Given the description of an element on the screen output the (x, y) to click on. 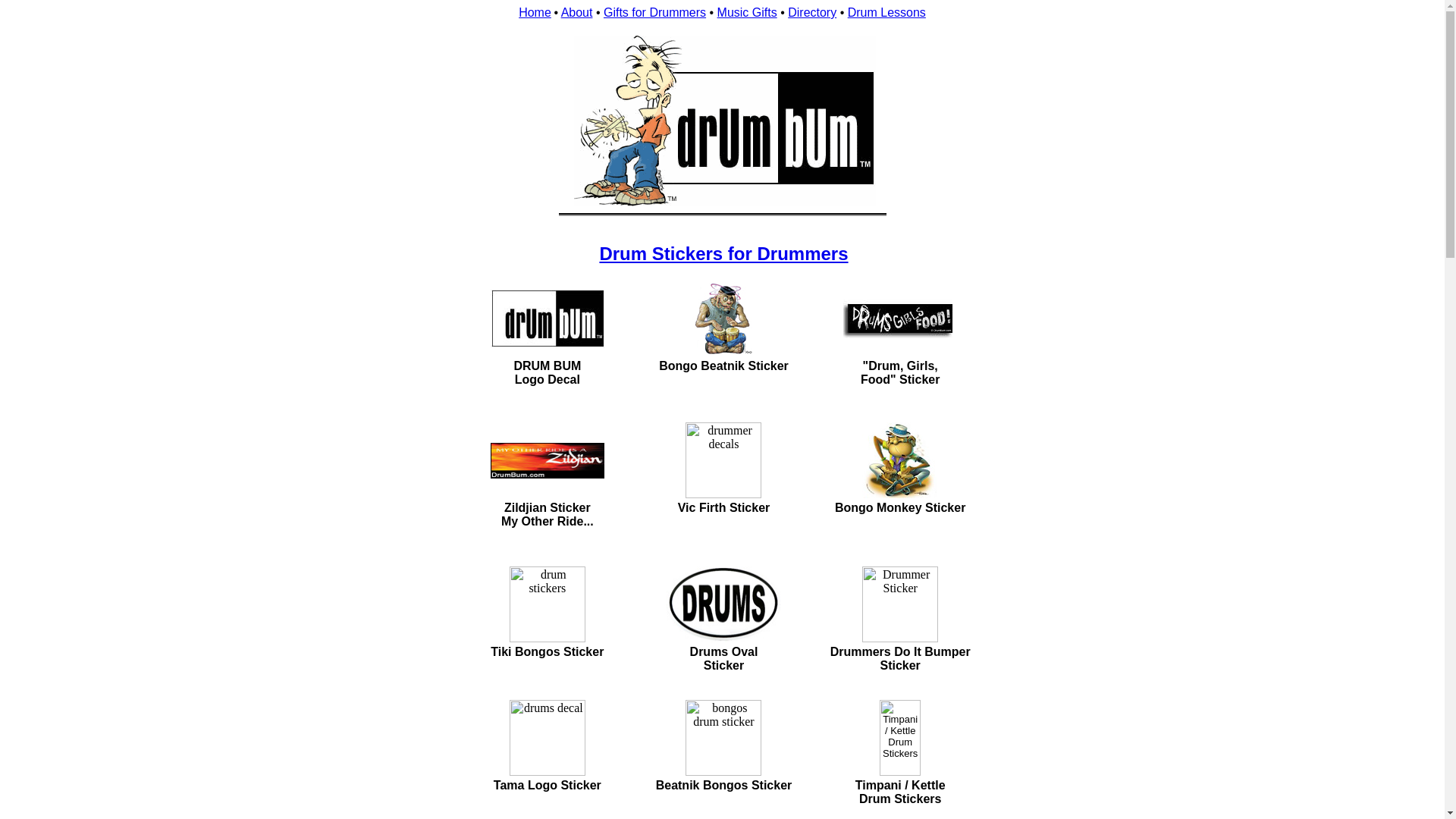
Directory (811, 11)
Gifts for Drummers (655, 11)
Home (534, 12)
Drum Stickers for Drummers (722, 253)
About (576, 11)
Drum Lessons (886, 11)
Music Gifts (747, 11)
